Given the description of an element on the screen output the (x, y) to click on. 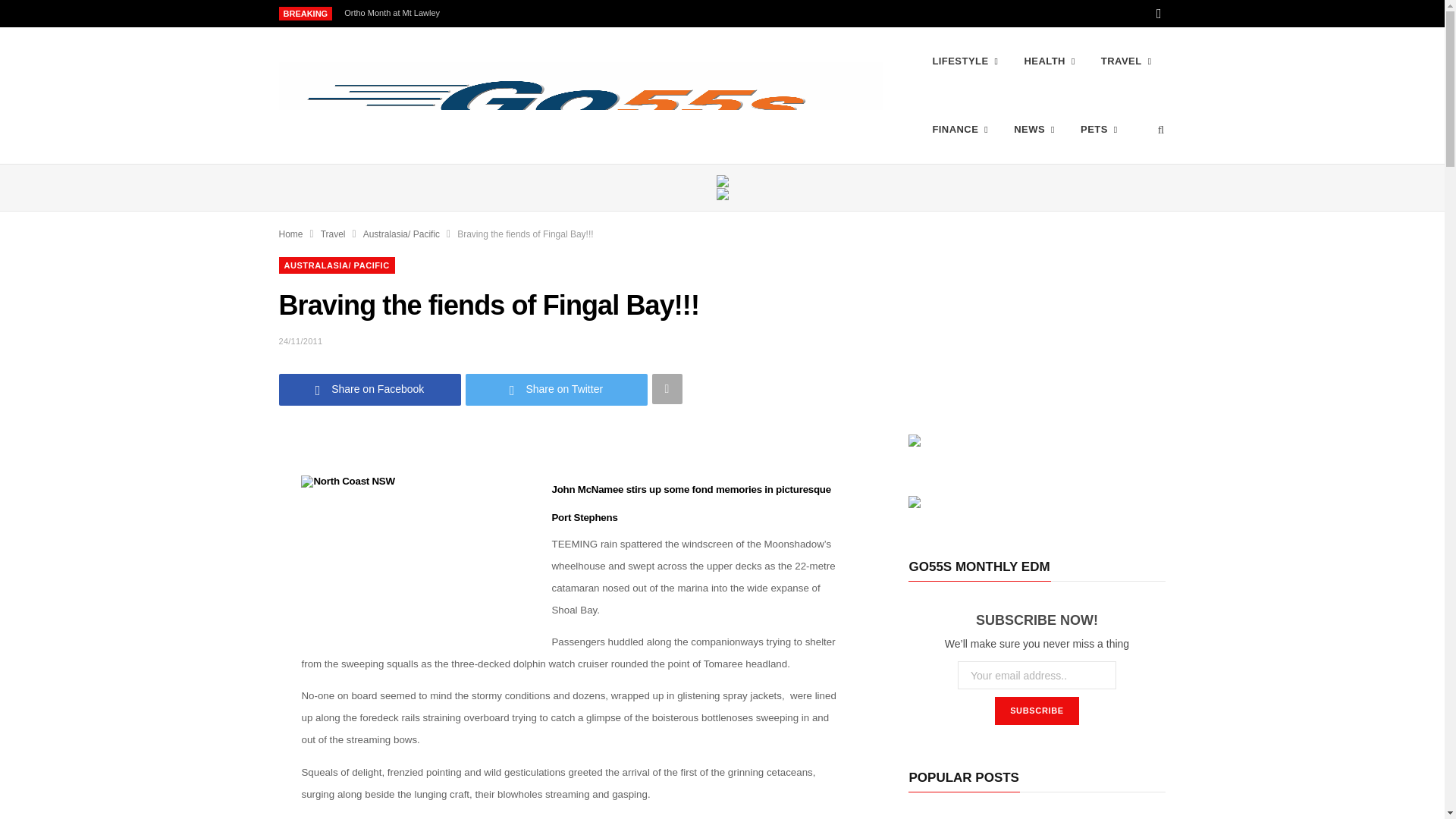
Ortho Month at Mt Lawley (394, 12)
Subscribe (1036, 710)
LIFESTYLE (964, 61)
HEALTH (1048, 61)
Go55s (581, 96)
Ortho Month at Mt Lawley (394, 12)
